Given the description of an element on the screen output the (x, y) to click on. 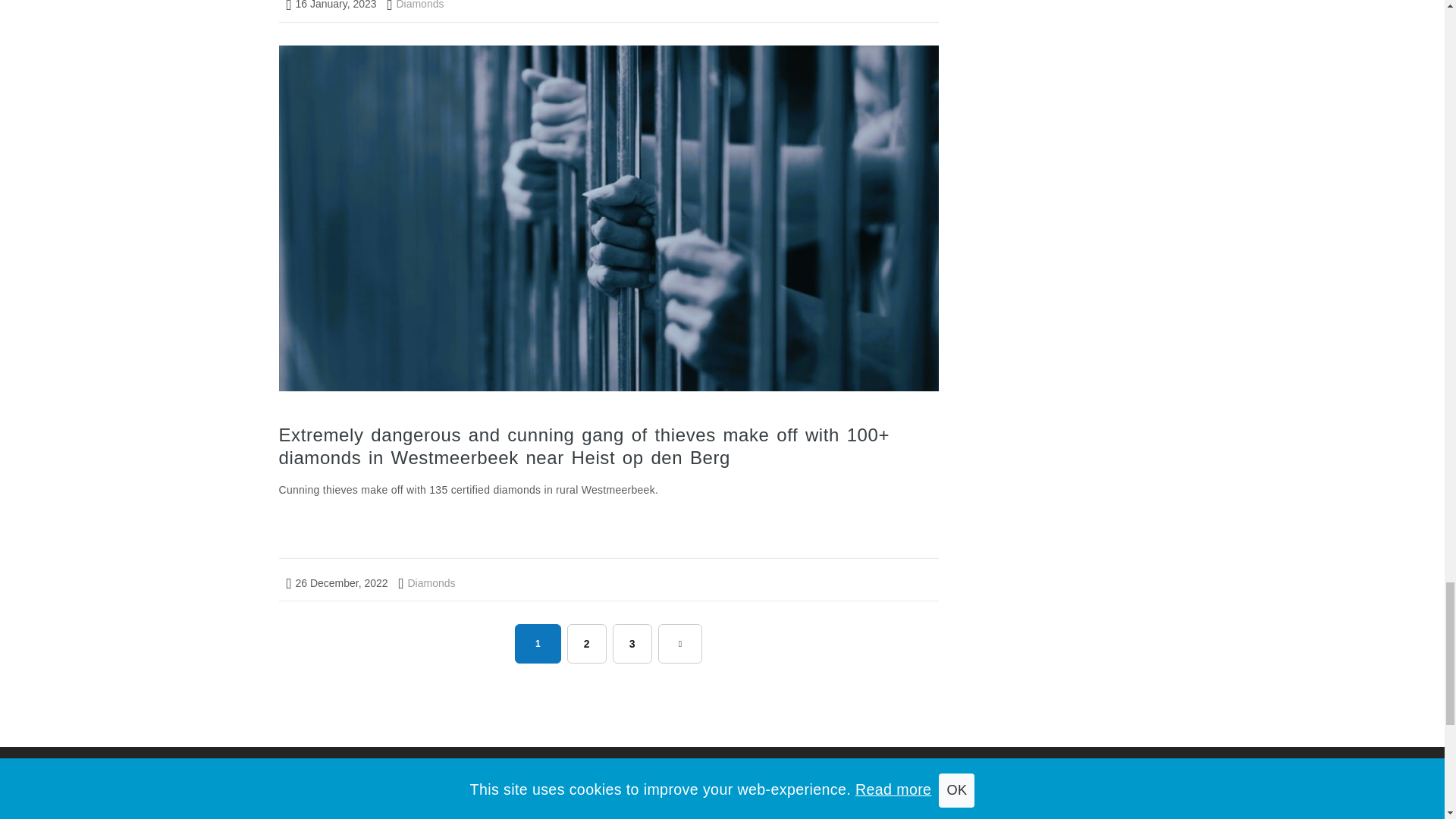
Diamonds (415, 4)
